Given the description of an element on the screen output the (x, y) to click on. 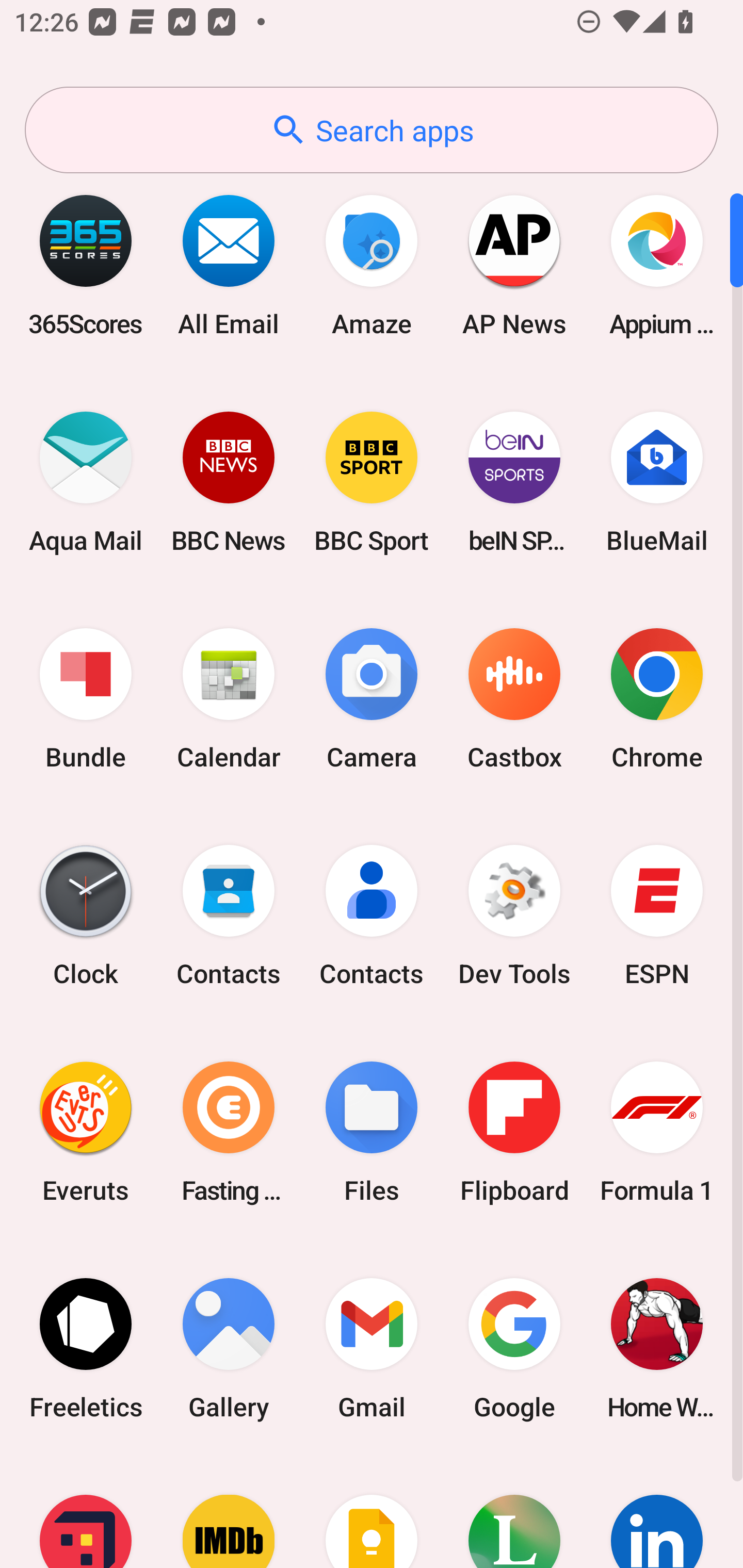
  Search apps (371, 130)
365Scores (85, 264)
All Email (228, 264)
Amaze (371, 264)
AP News (514, 264)
Appium Settings (656, 264)
Aqua Mail (85, 482)
BBC News (228, 482)
BBC Sport (371, 482)
beIN SPORTS (514, 482)
BlueMail (656, 482)
Bundle (85, 699)
Calendar (228, 699)
Camera (371, 699)
Castbox (514, 699)
Chrome (656, 699)
Clock (85, 915)
Contacts (228, 915)
Contacts (371, 915)
Dev Tools (514, 915)
ESPN (656, 915)
Everuts (85, 1131)
Fasting Coach (228, 1131)
Files (371, 1131)
Flipboard (514, 1131)
Formula 1 (656, 1131)
Freeletics (85, 1348)
Gallery (228, 1348)
Gmail (371, 1348)
Google (514, 1348)
Home Workout (656, 1348)
Hotels.com (85, 1512)
IMDb (228, 1512)
Keep Notes (371, 1512)
Lifesum (514, 1512)
LinkedIn (656, 1512)
